Given the description of an element on the screen output the (x, y) to click on. 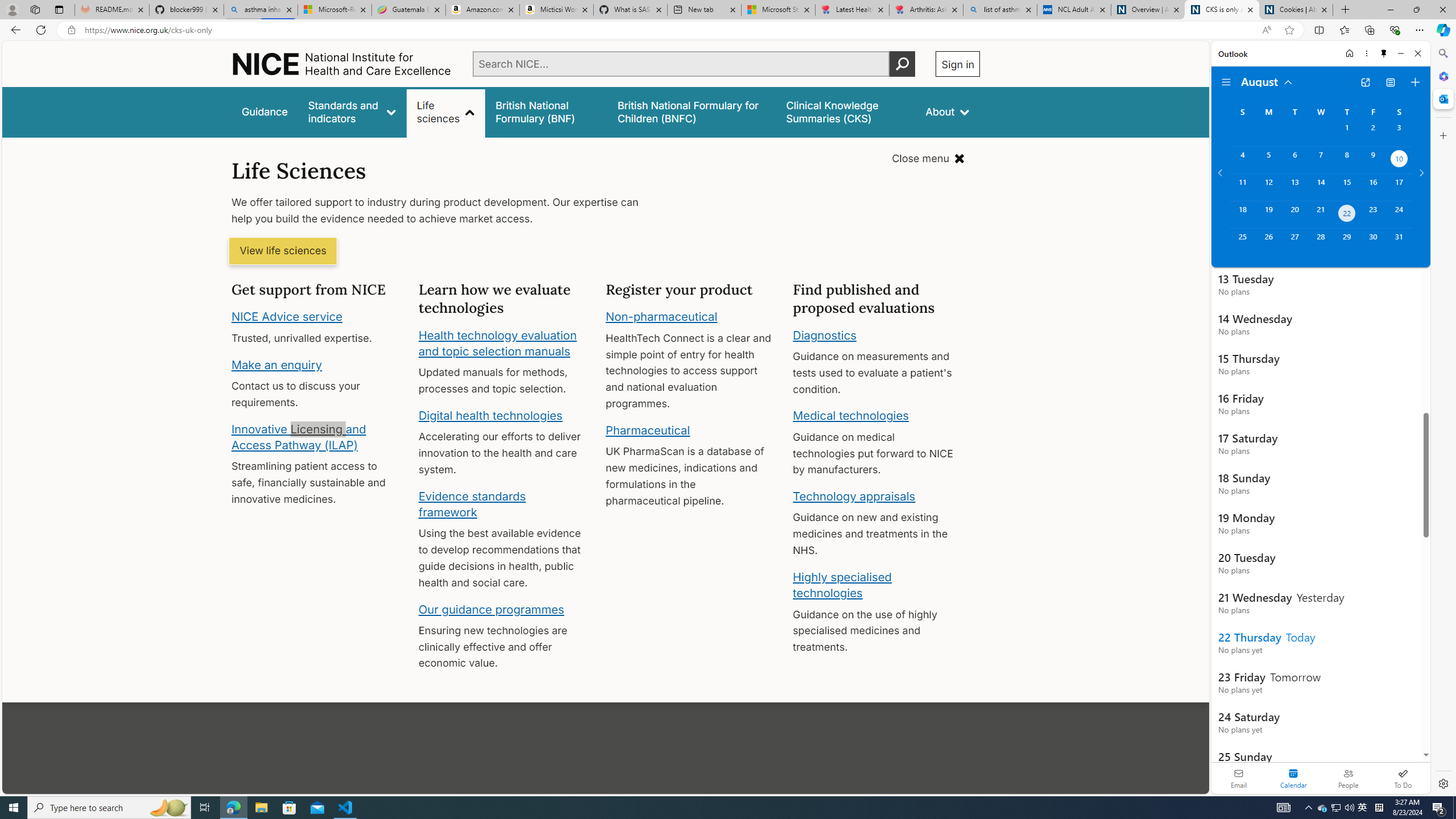
Arthritis: Ask Health Professionals (925, 9)
Monday, August 19, 2024.  (1268, 214)
Saturday, August 10, 2024. Date selected.  (1399, 159)
Thursday, August 1, 2024.  (1346, 132)
CKS is only available in the UK | NICE (1221, 9)
Side bar (1443, 418)
Thursday, August 29, 2024.  (1346, 241)
false (845, 111)
